Given the description of an element on the screen output the (x, y) to click on. 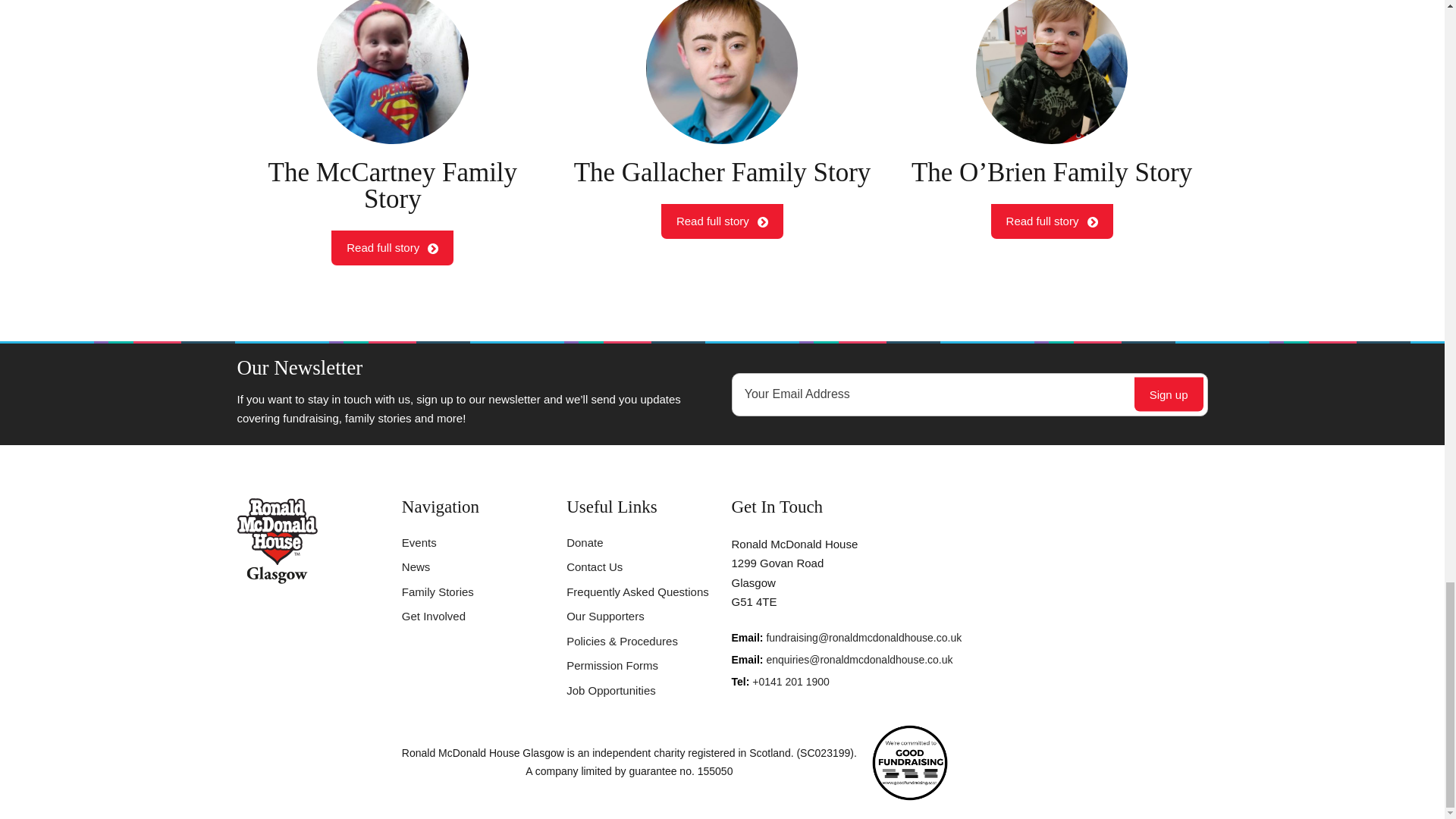
Donate (584, 542)
button-arrow (721, 132)
Sign up (433, 248)
button-arrow (391, 132)
Get Involved (1169, 394)
News (762, 222)
Frequently Asked Questions (433, 615)
Our Supporters (415, 566)
Permission Forms (637, 591)
Contact Us (605, 615)
Family Stories (612, 665)
Events (594, 566)
Job Opportunities (437, 591)
